Given the description of an element on the screen output the (x, y) to click on. 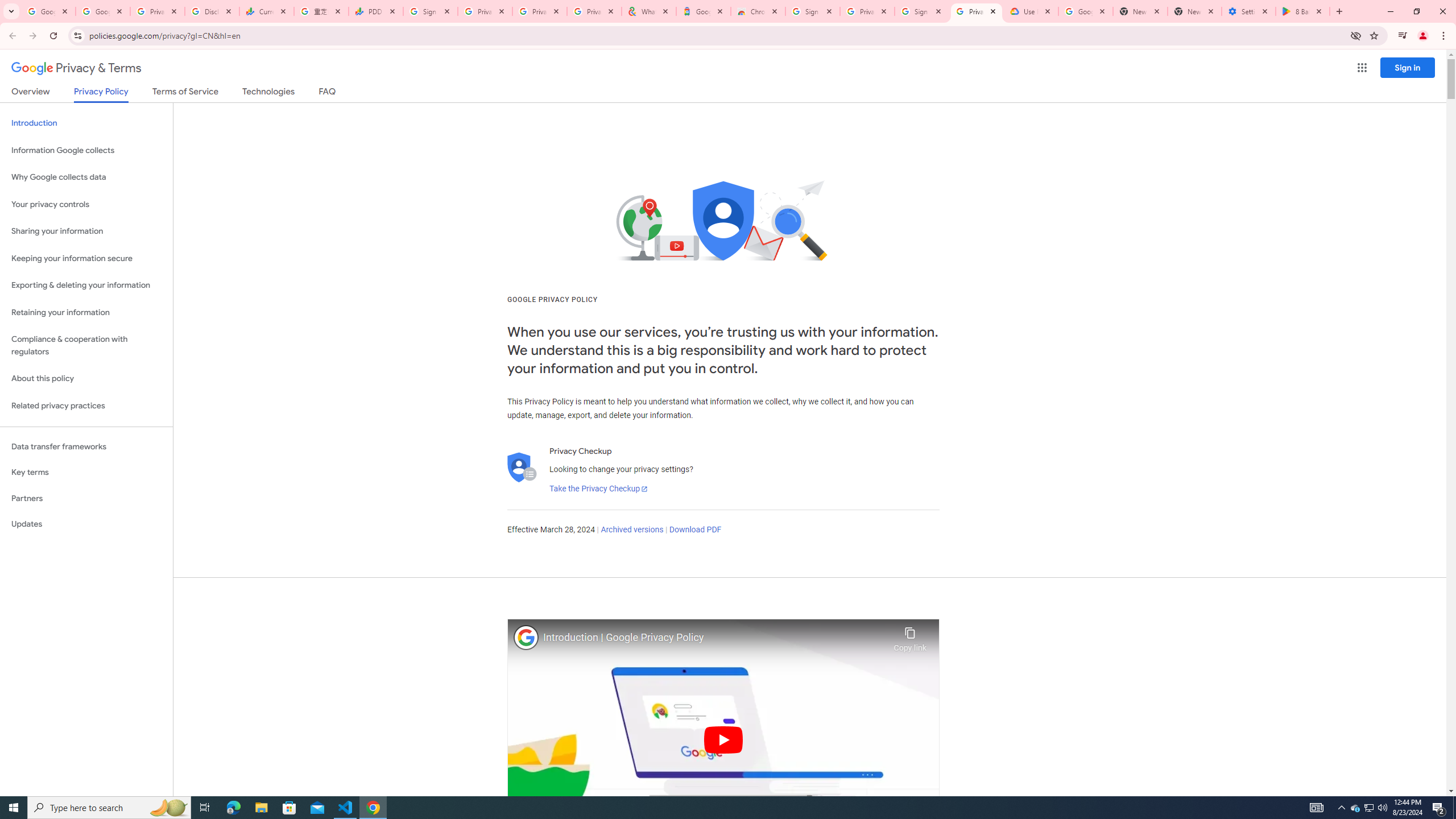
Sign in - Google Accounts (812, 11)
Currencies - Google Finance (266, 11)
